Given the description of an element on the screen output the (x, y) to click on. 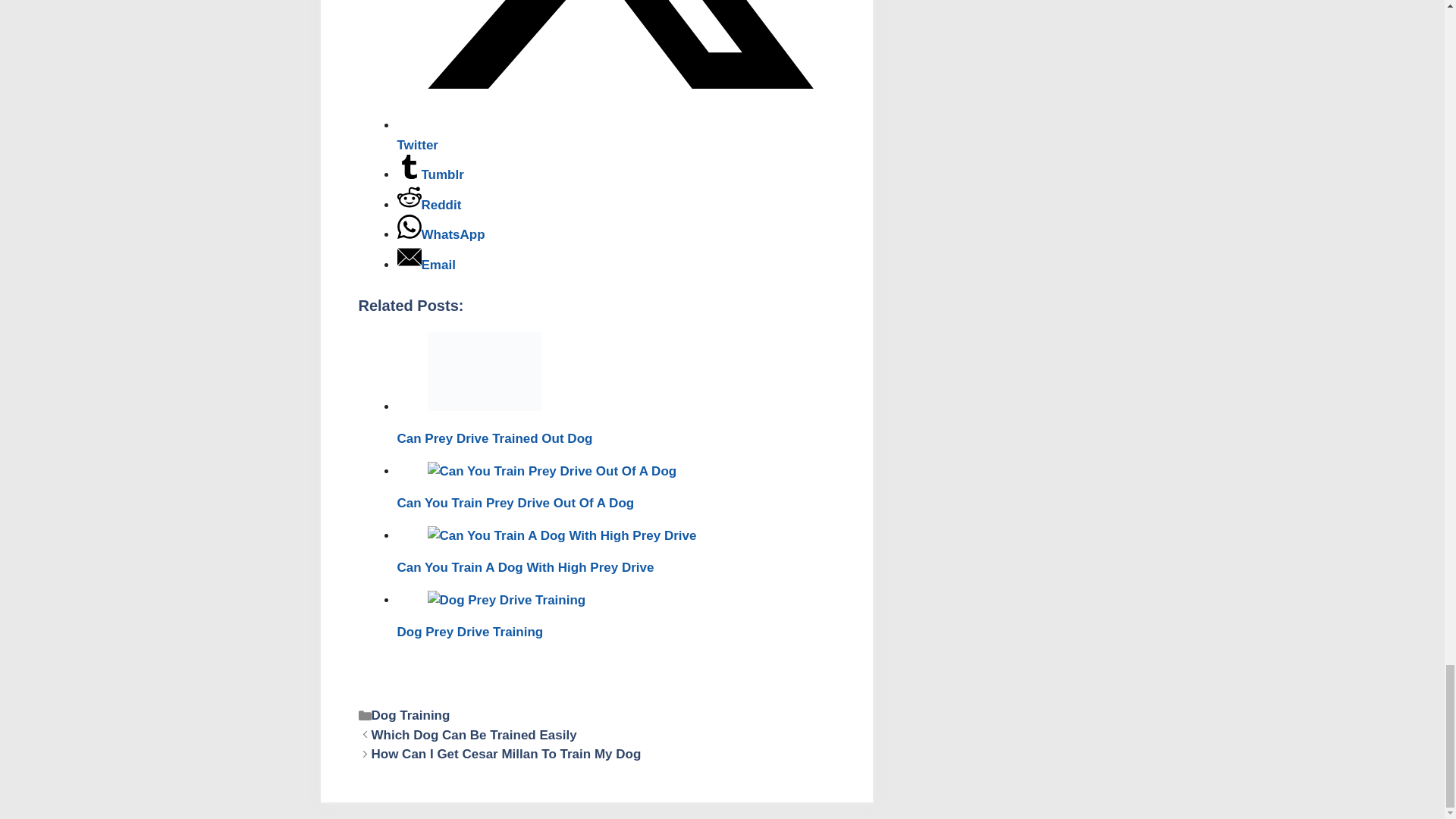
Share on Reddit (429, 205)
Share on Twitter (615, 134)
Share on Tumblr (430, 174)
Share on Email (426, 264)
Share on WhatsApp (440, 234)
